Given the description of an element on the screen output the (x, y) to click on. 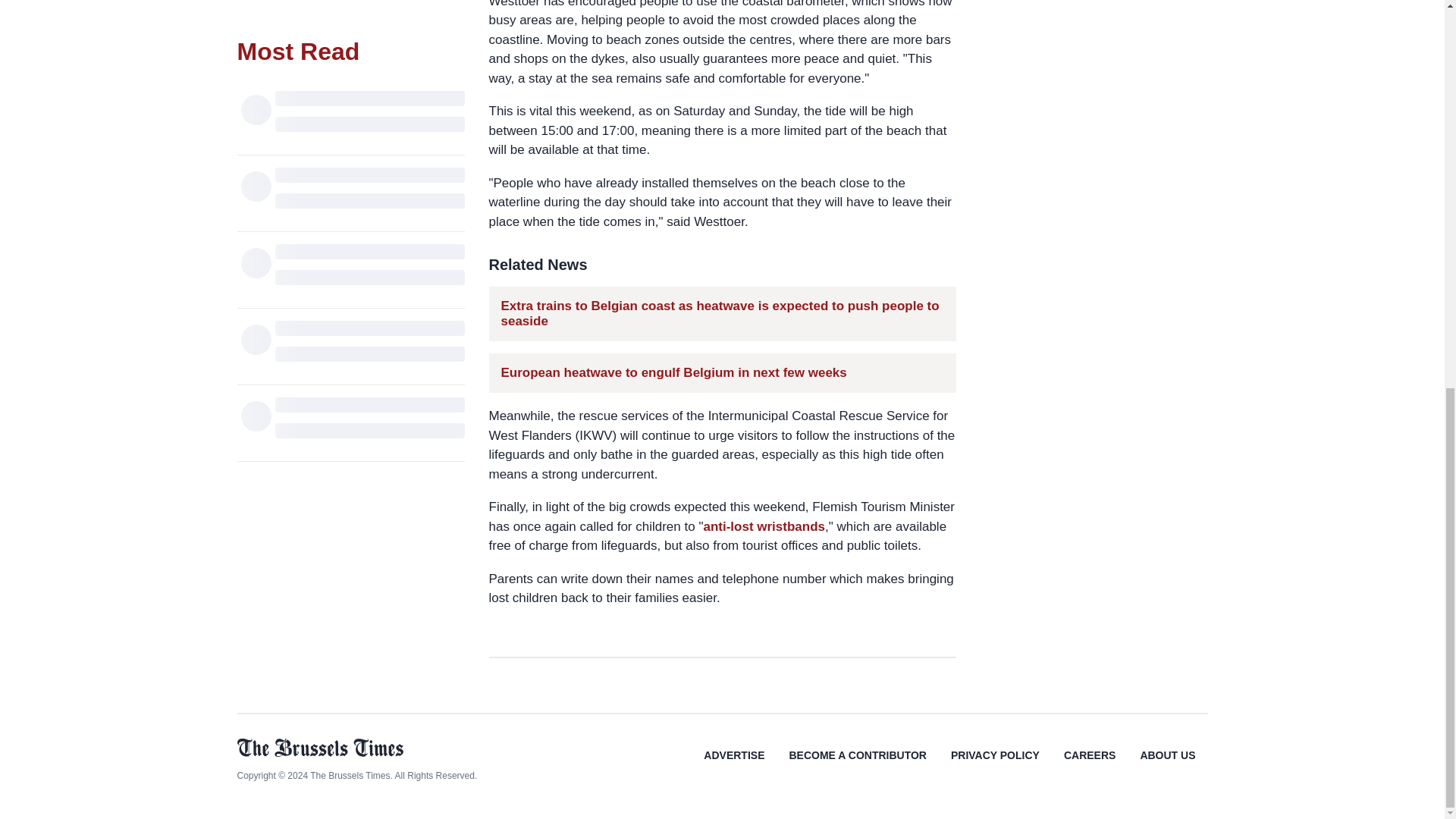
anti-lost wristbands (764, 526)
ABOUT US (1166, 766)
CAREERS (1088, 766)
PRIVACY POLICY (995, 766)
BECOME A CONTRIBUTOR (856, 766)
ADVERTISE (733, 766)
European heatwave to engulf Belgium in next few weeks (672, 372)
